Given the description of an element on the screen output the (x, y) to click on. 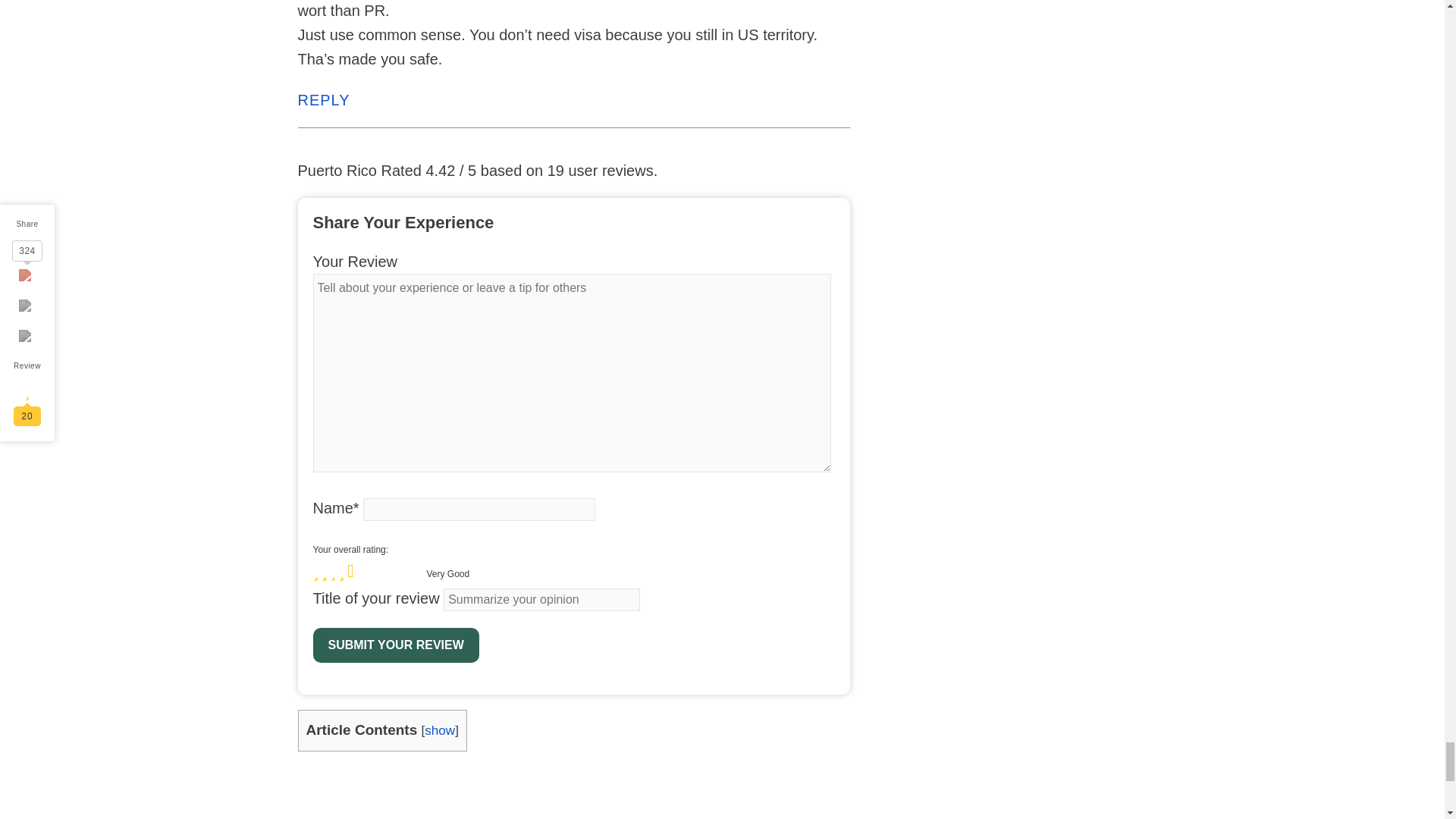
Submit Your Review (396, 645)
